Given the description of an element on the screen output the (x, y) to click on. 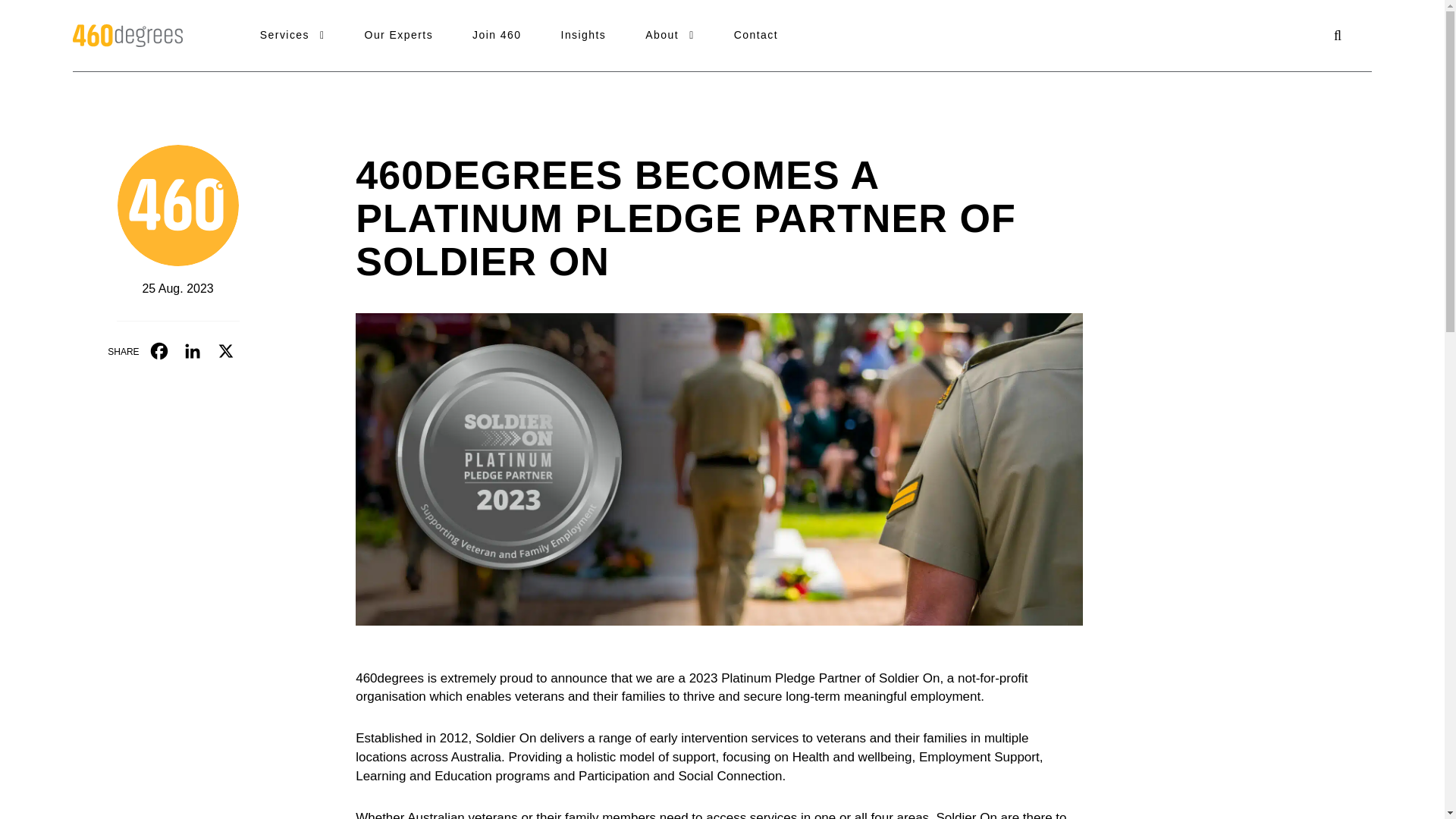
Contact (755, 35)
Insights (583, 35)
Services (292, 35)
Our Experts (399, 35)
Join 460 (496, 35)
About (669, 35)
